Given the description of an element on the screen output the (x, y) to click on. 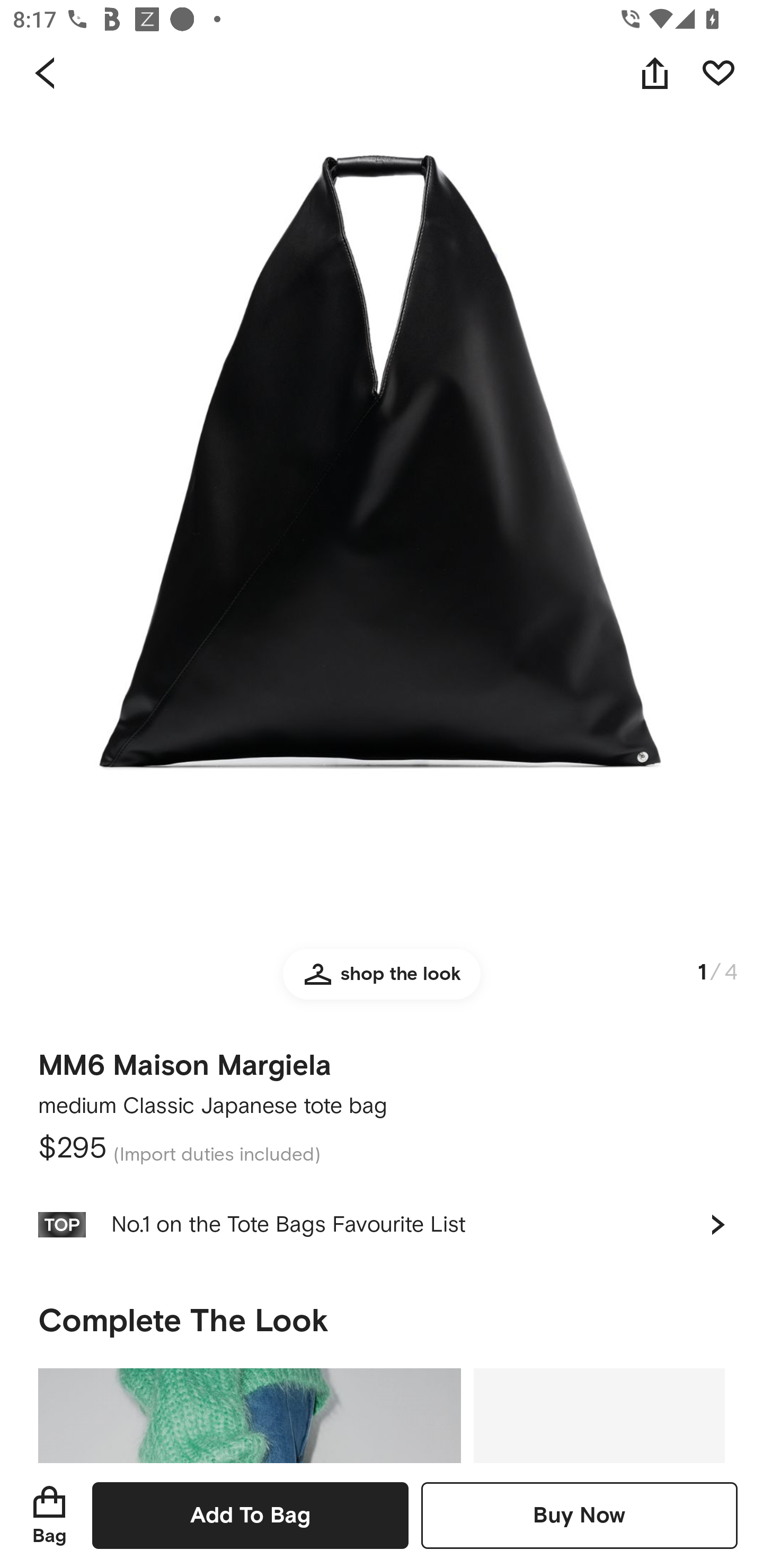
shop the look (381, 982)
MM6 Maison Margiela (184, 1059)
No.1 on the Tote Bags Favourite List (381, 1224)
Bag (49, 1515)
Add To Bag (250, 1515)
Buy Now (579, 1515)
